Given the description of an element on the screen output the (x, y) to click on. 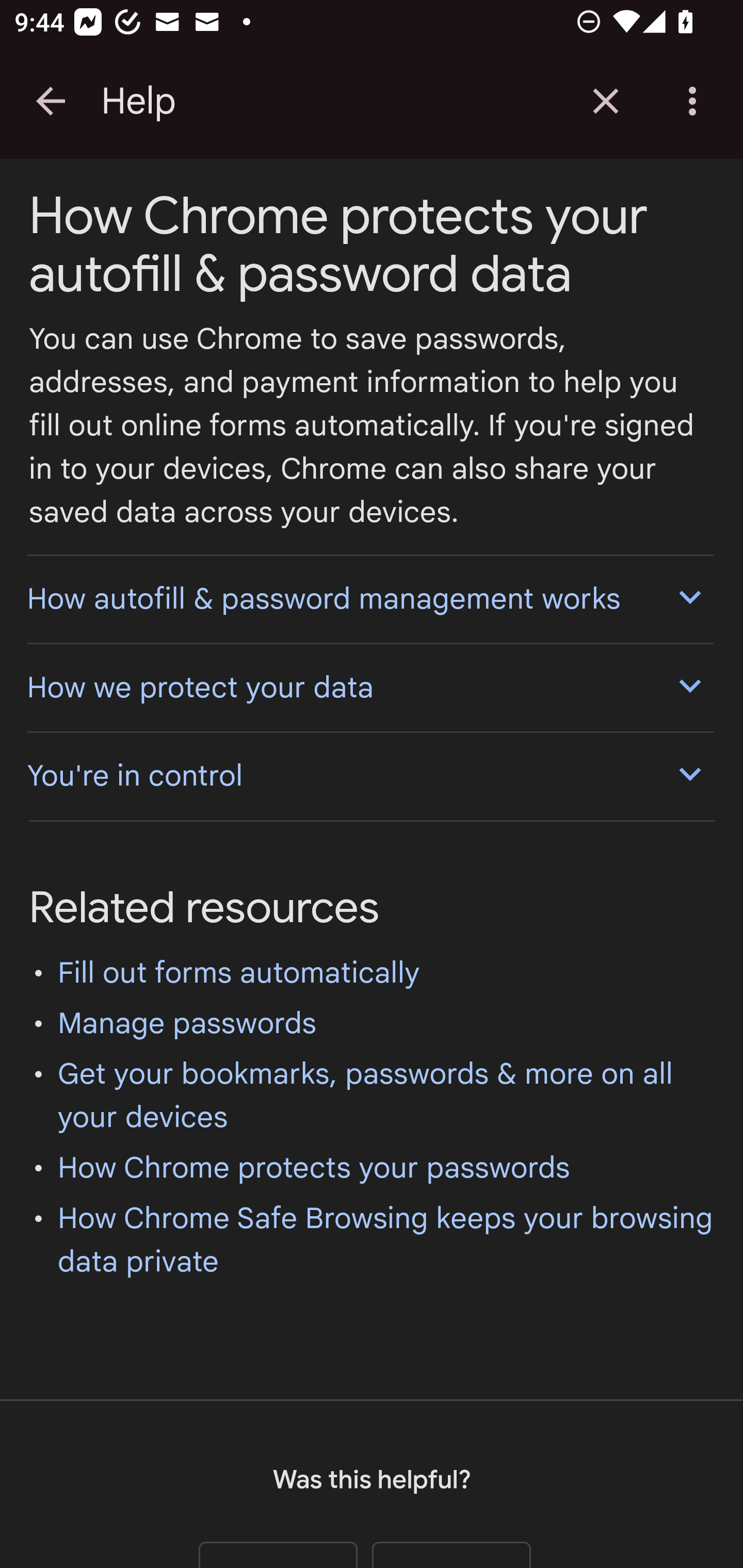
Navigate up (50, 101)
Return to Chrome (605, 101)
More options (696, 101)
How autofill & password management works (369, 596)
How we protect your data (369, 687)
You're in control (369, 775)
Fill out forms automatically (238, 972)
Manage passwords (187, 1022)
How Chrome protects your passwords (313, 1167)
